Given the description of an element on the screen output the (x, y) to click on. 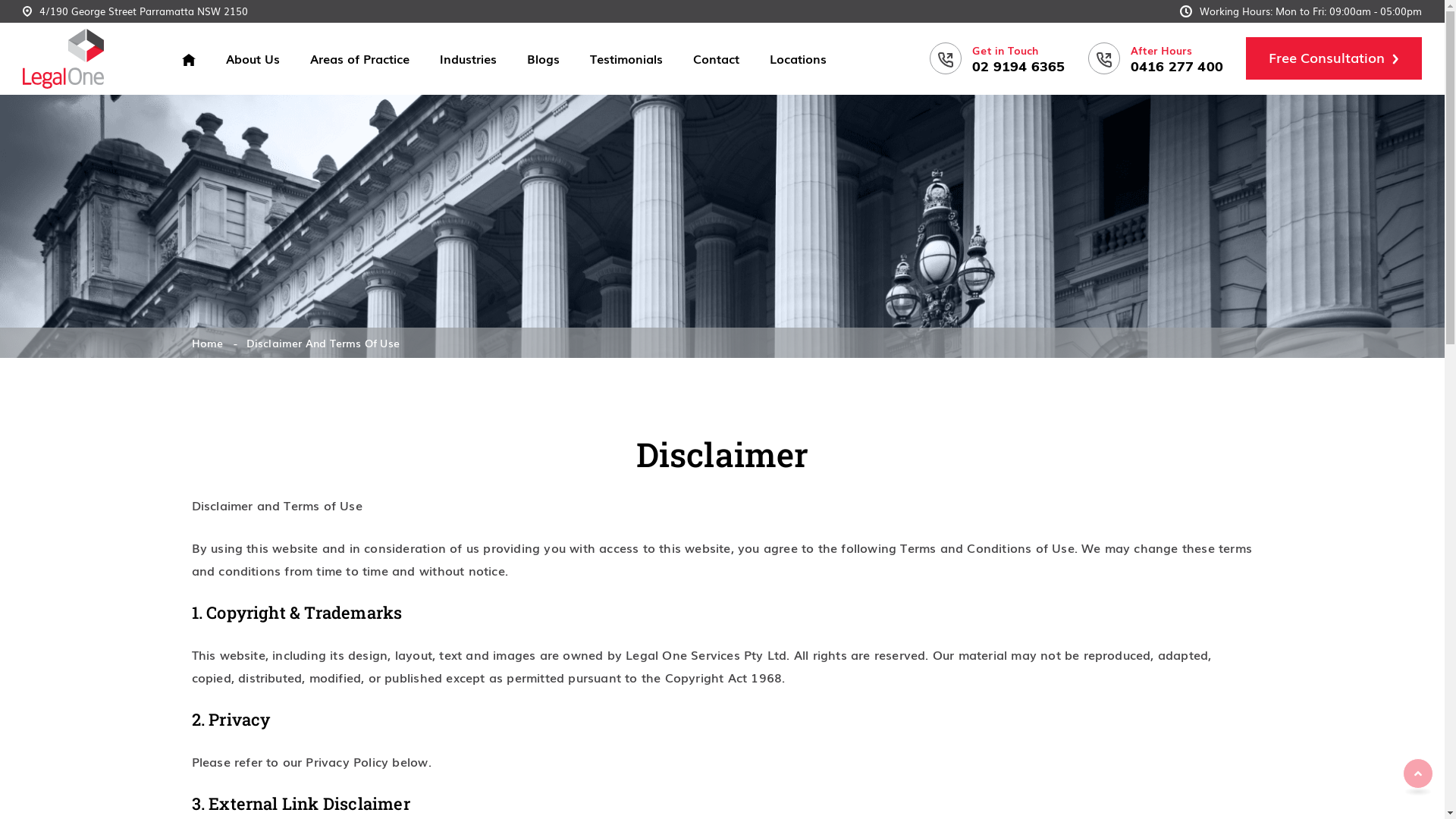
Contact Element type: text (716, 58)
After Hours
0416 277 400 Element type: text (1155, 58)
Get in Touch
02 9194 6365 Element type: text (996, 58)
Locations Element type: text (797, 58)
About Us Element type: text (252, 58)
Free Consultation Element type: text (1333, 58)
Testimonials Element type: text (625, 58)
Areas of Practice Element type: text (359, 58)
Home Element type: text (206, 342)
Industries Element type: text (467, 58)
Blogs Element type: text (543, 58)
